Given the description of an element on the screen output the (x, y) to click on. 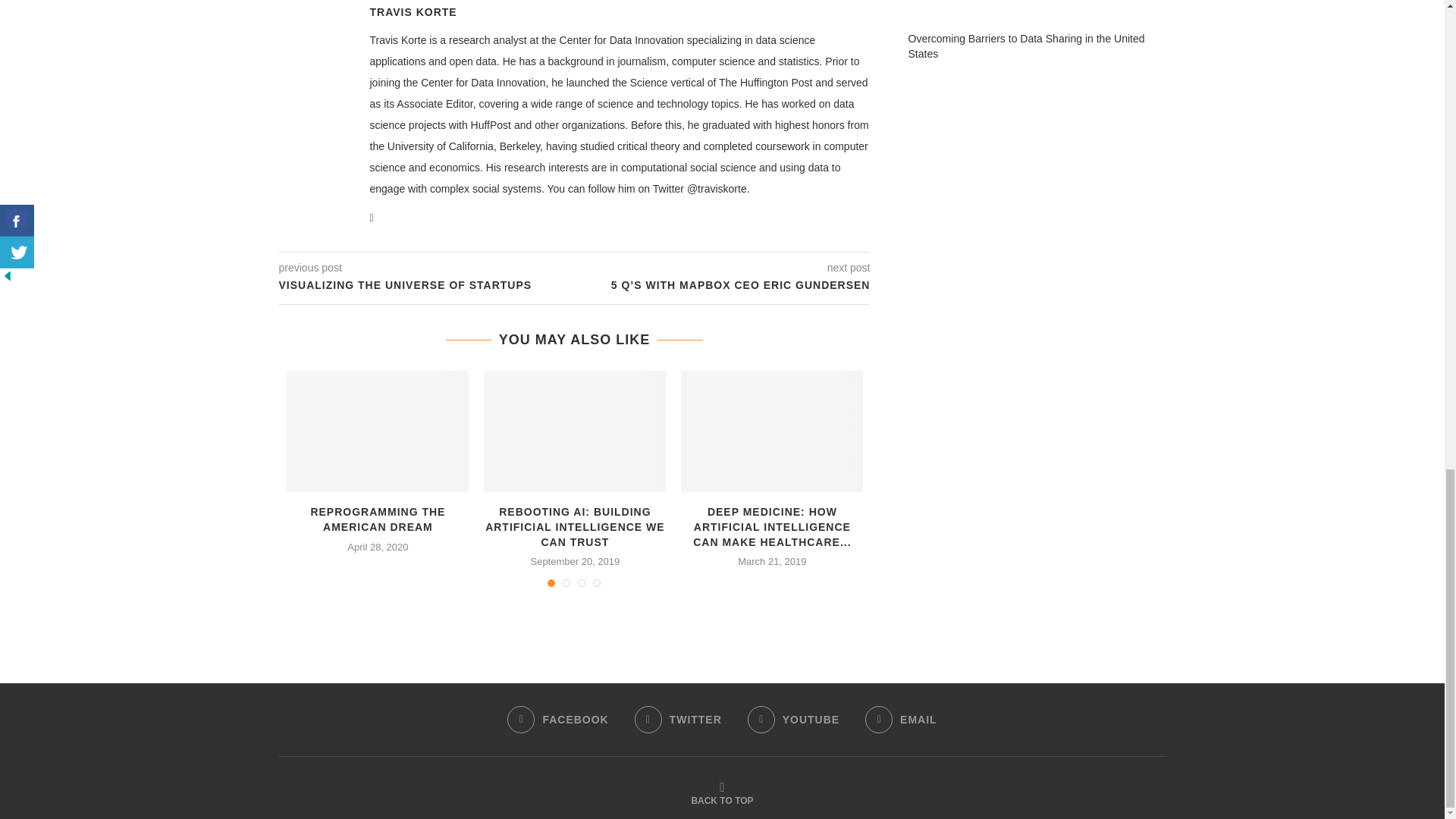
Rebooting AI: Building Artificial Intelligence We Can Trust (574, 431)
Reprogramming the American Dream (377, 431)
